Given the description of an element on the screen output the (x, y) to click on. 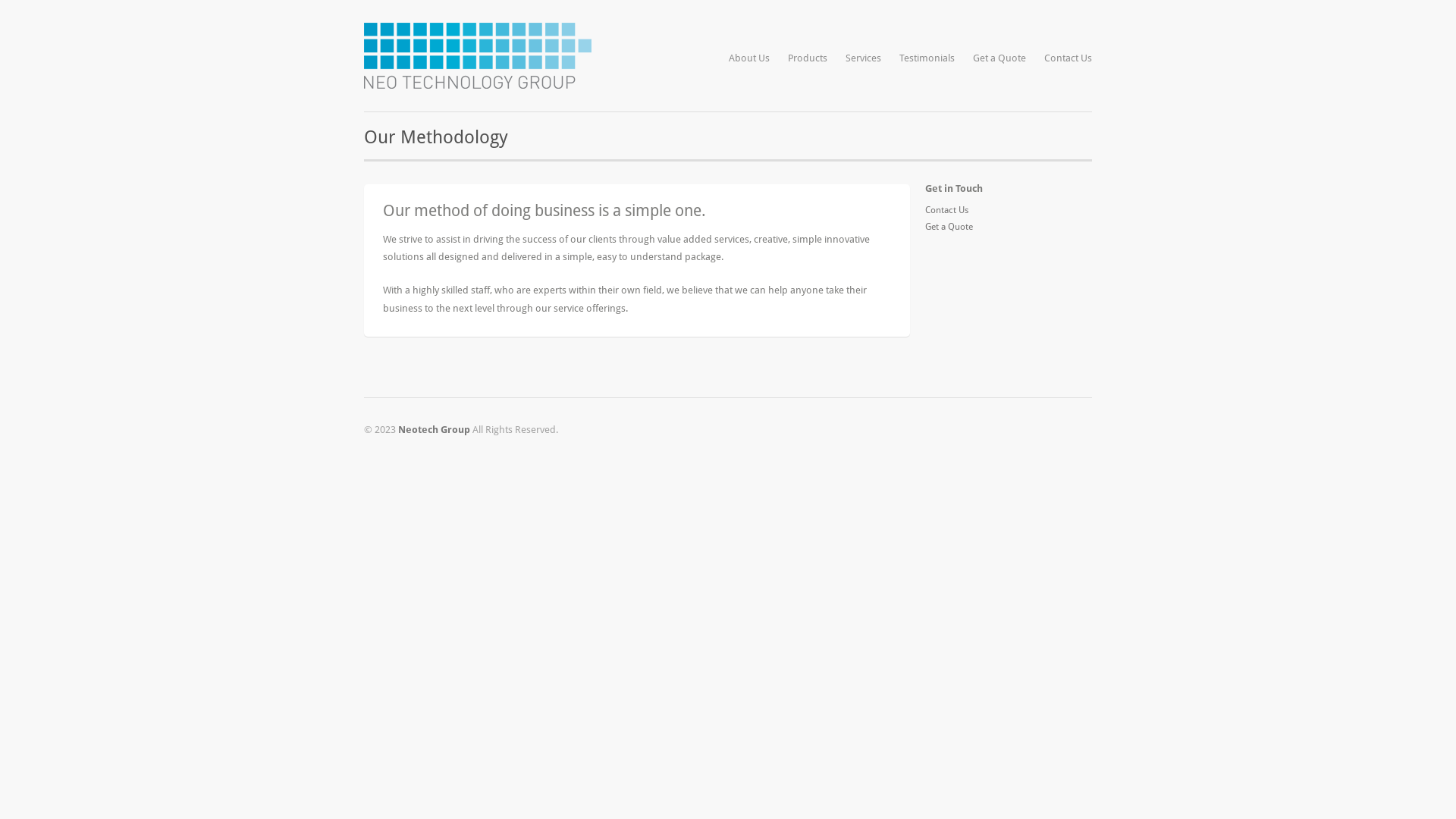
Services Element type: text (863, 57)
Get a Quote Element type: text (948, 226)
Contact Us Element type: text (1068, 57)
Products Element type: text (807, 57)
About Us Element type: text (748, 57)
Testimonials Element type: text (926, 57)
Neotech Group Element type: text (434, 429)
Contact Us Element type: text (946, 209)
Get a Quote Element type: text (999, 57)
